Given the description of an element on the screen output the (x, y) to click on. 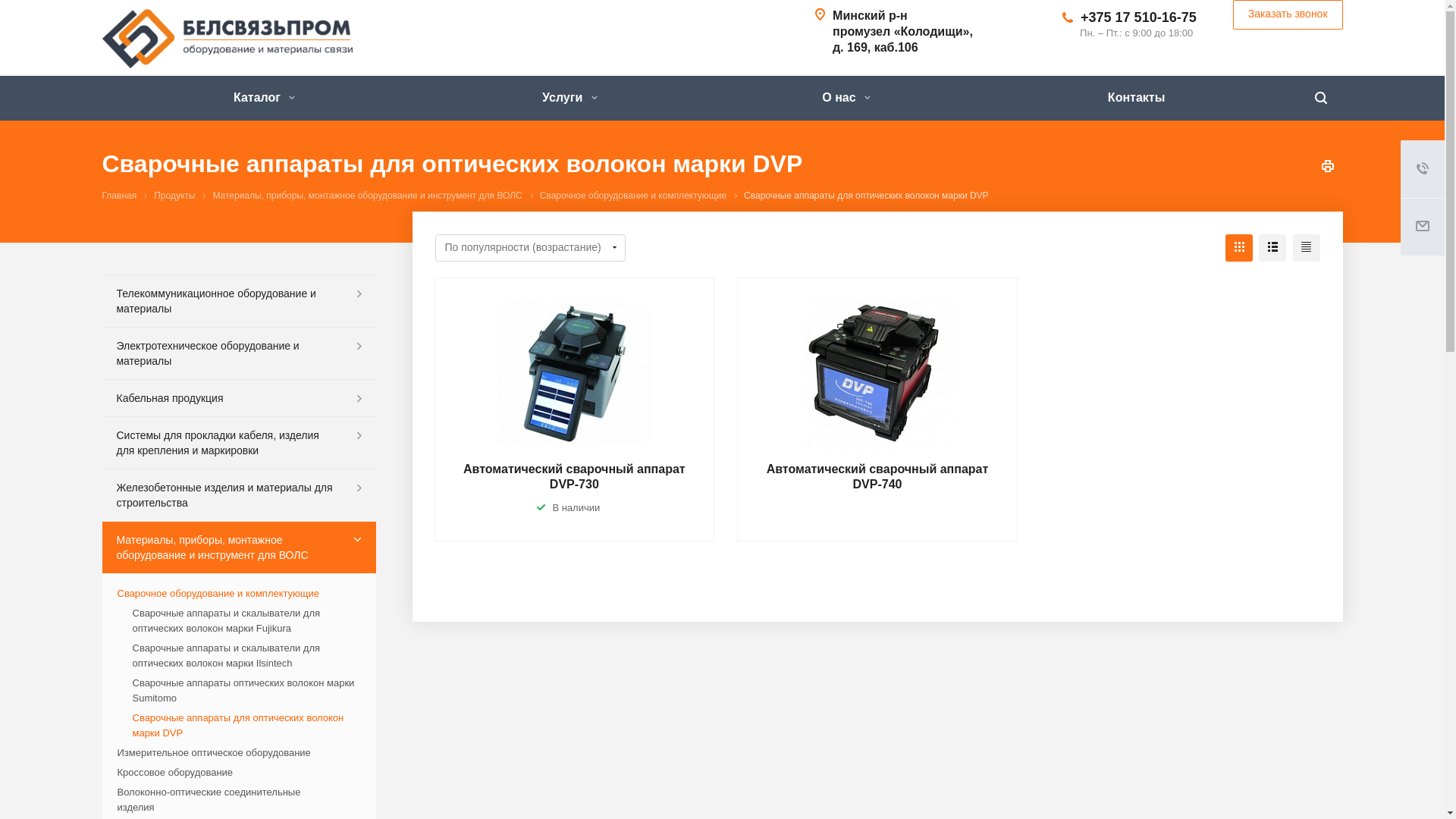
+375 17 510-16-75 Element type: text (1138, 17)
